Given the description of an element on the screen output the (x, y) to click on. 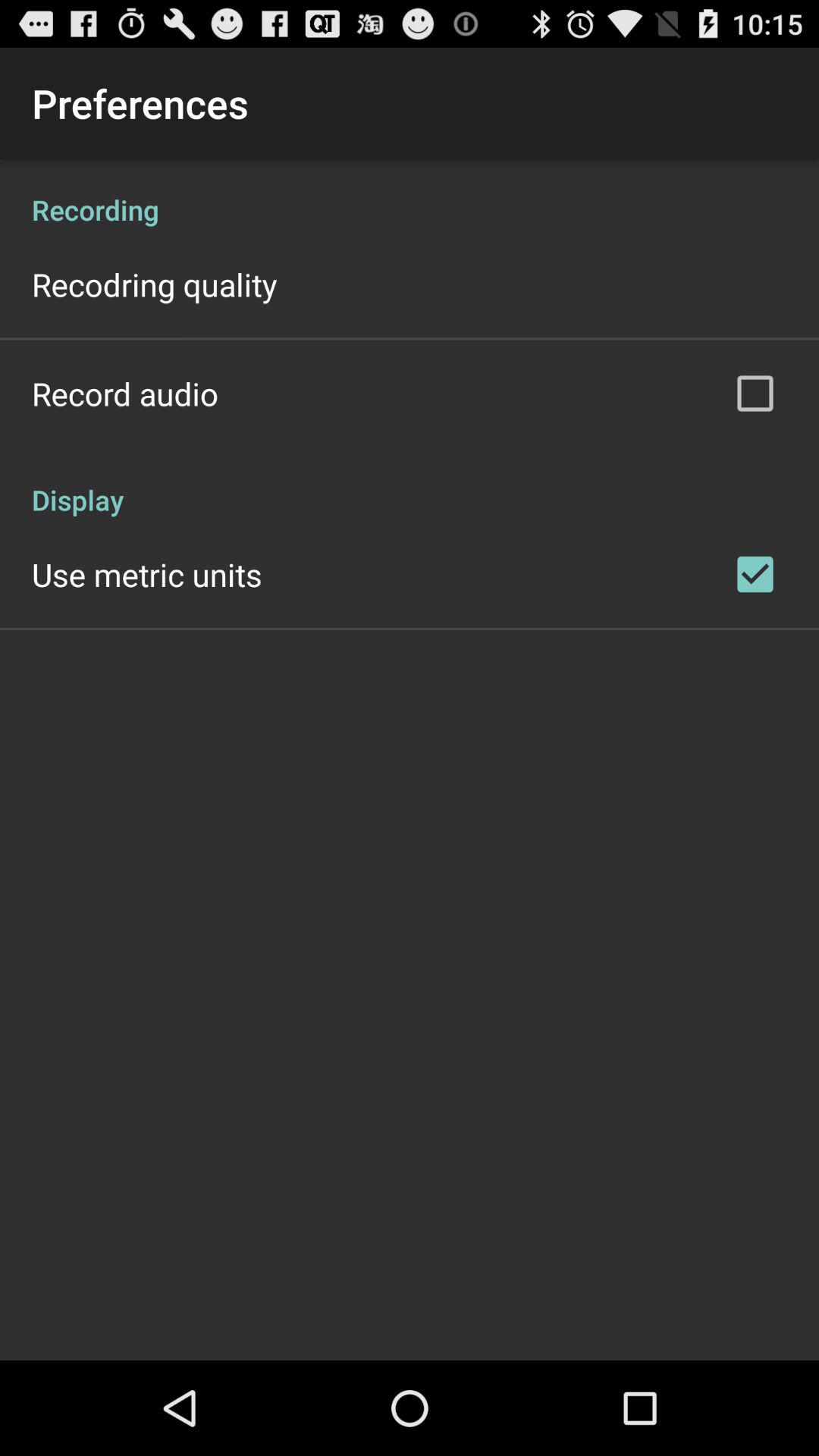
click the app below recodring quality icon (124, 393)
